Given the description of an element on the screen output the (x, y) to click on. 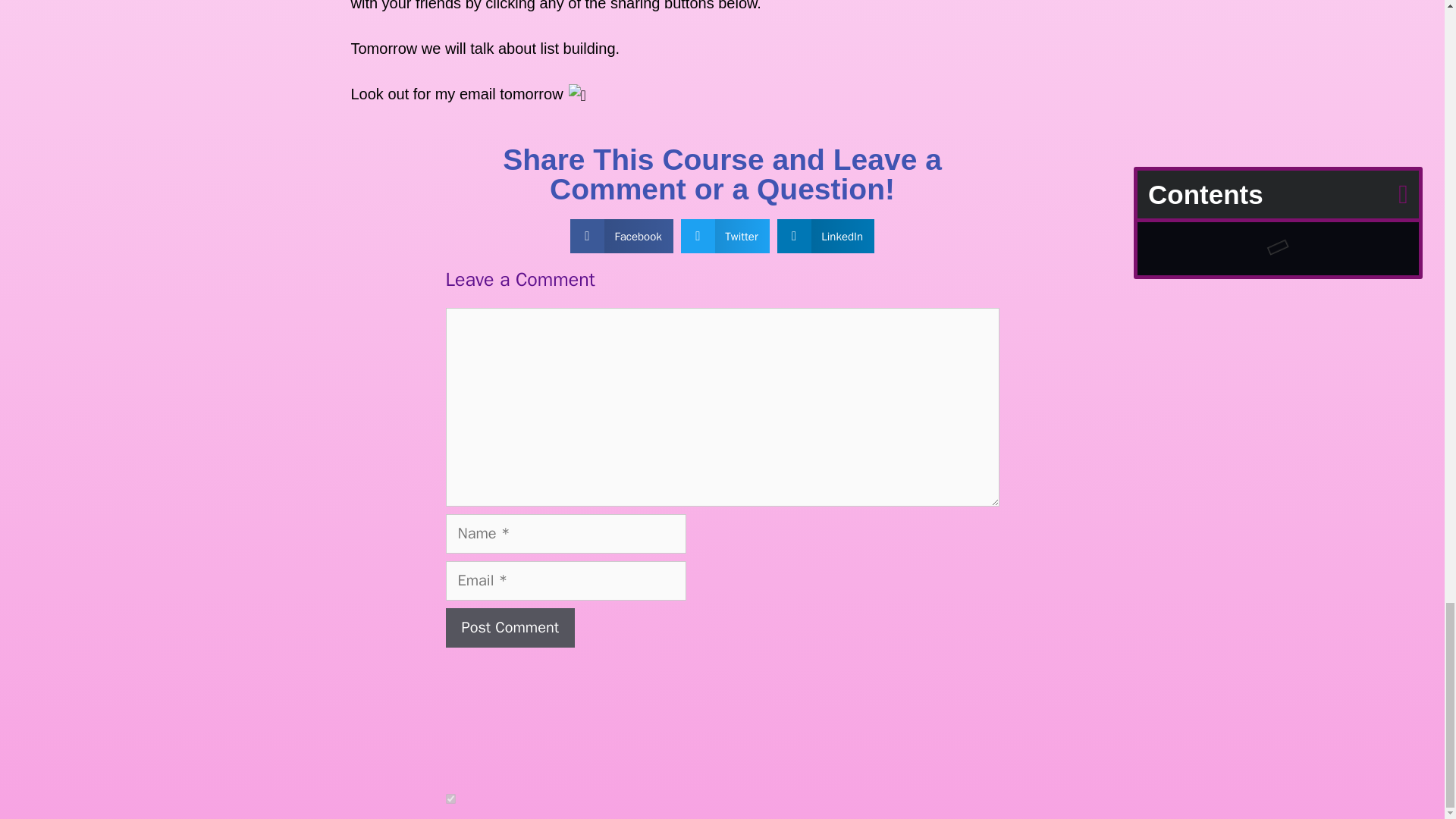
on (450, 798)
Post Comment (510, 627)
CommentLuv is enabled (524, 798)
Post Comment (510, 627)
